Given the description of an element on the screen output the (x, y) to click on. 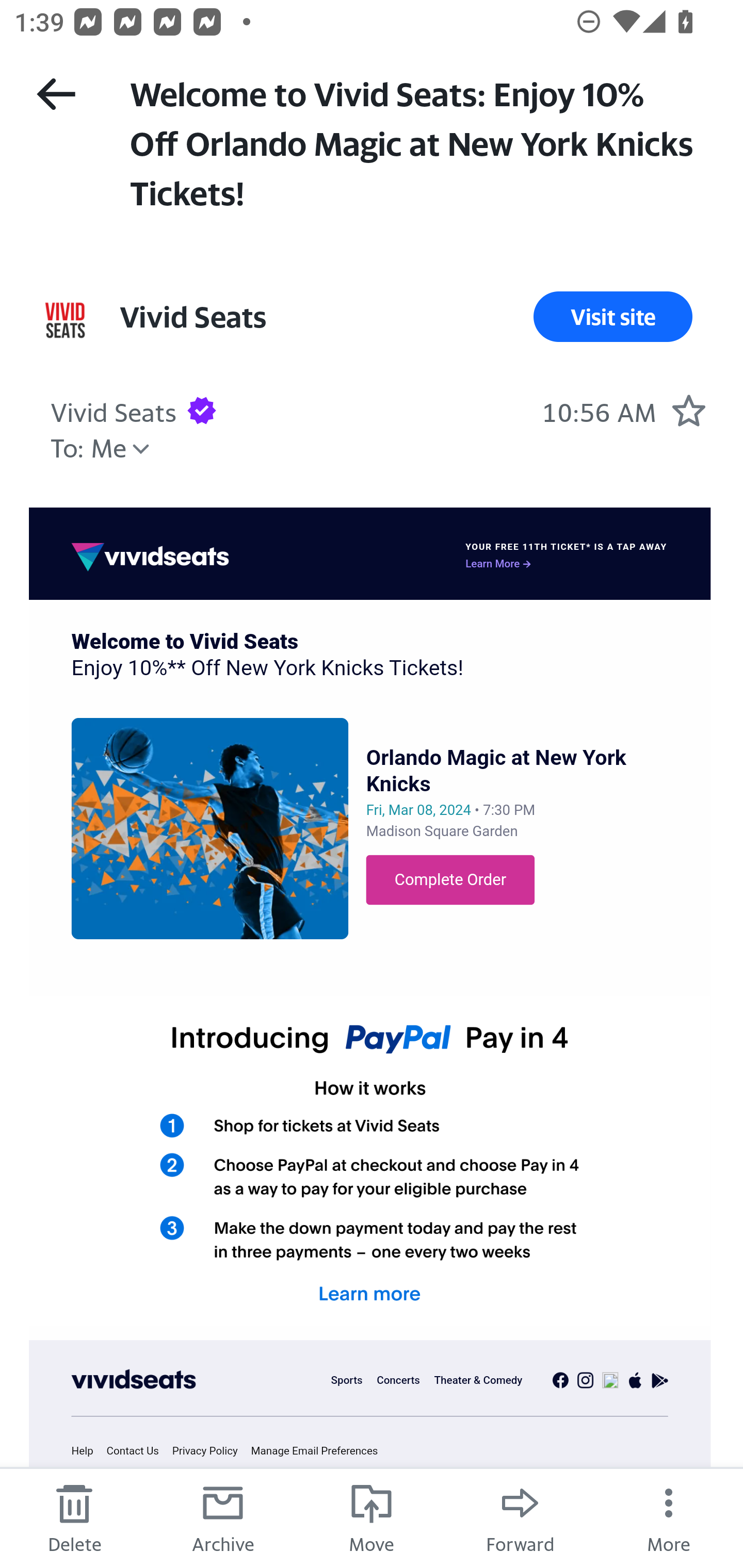
Back (55, 93)
View all messages from sender (64, 320)
Visit site Visit Site Link (612, 316)
Vivid Seats Sender Vivid Seats (191, 316)
Vivid Seats Sender Vivid Seats (113, 410)
Mark as starred. (688, 410)
New York Knicks (210, 827)
Orlando Magic at New York Knicks (496, 770)
Complete Order (449, 880)
facebook (560, 1380)
instagram (585, 1380)
twitter (609, 1380)
iPhone (635, 1380)
Android (659, 1380)
Sports (346, 1379)
Concerts (397, 1379)
Theater & Comedy (477, 1379)
Help (87, 1451)
Contact Us (137, 1451)
Privacy Policy (209, 1451)
Manage Email Preferences (320, 1451)
Delete (74, 1517)
Archive (222, 1517)
Move (371, 1517)
Forward (519, 1517)
More (668, 1517)
